Given the description of an element on the screen output the (x, y) to click on. 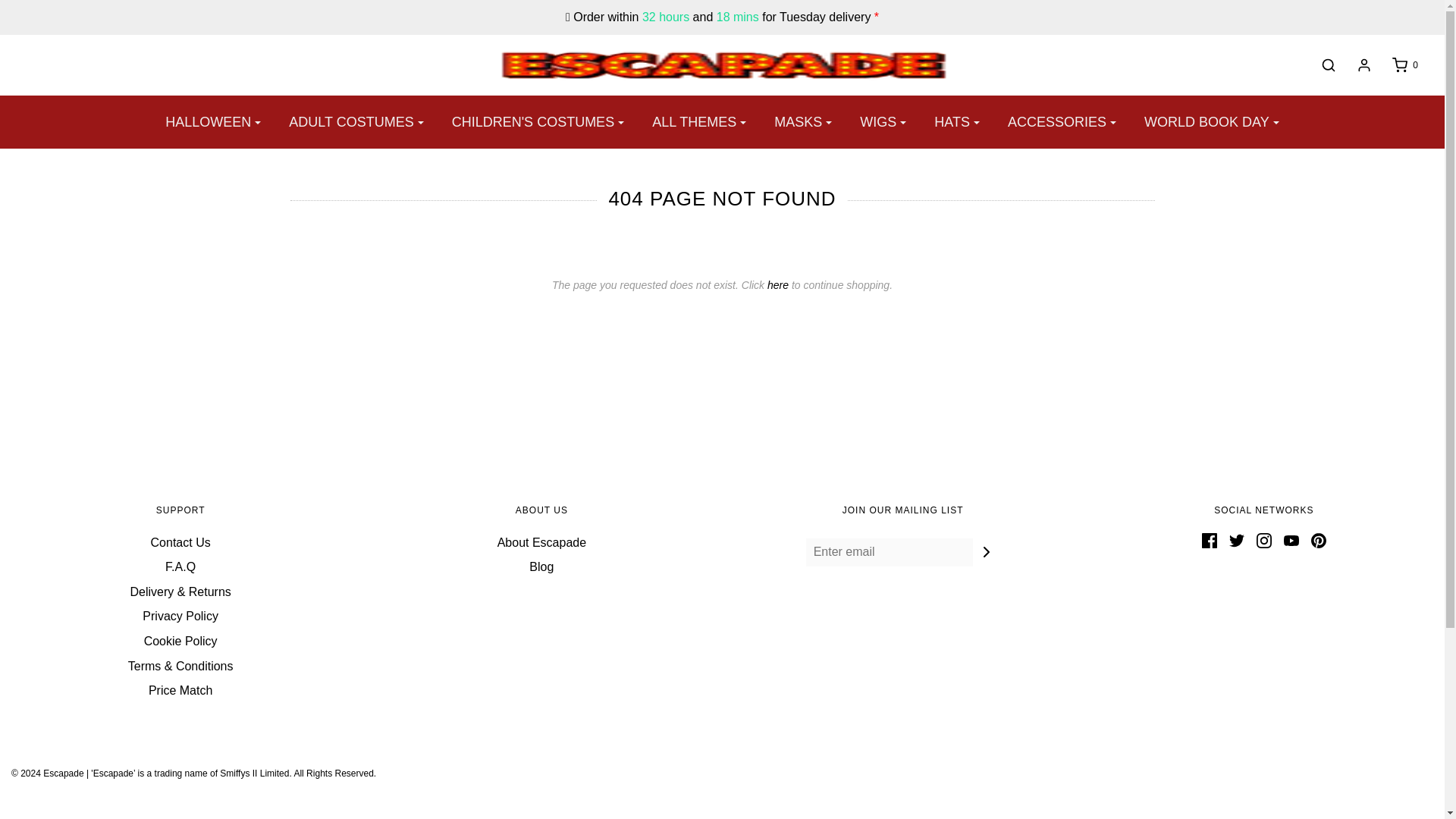
HALLOWEEN (213, 122)
Pinterest icon (1318, 540)
Instagram icon (1263, 540)
Facebook icon (1209, 540)
Cart (1396, 64)
Search (1103, 2)
0 (1396, 64)
Twitter icon (1236, 540)
Log in (1356, 64)
Search (1321, 64)
